Given the description of an element on the screen output the (x, y) to click on. 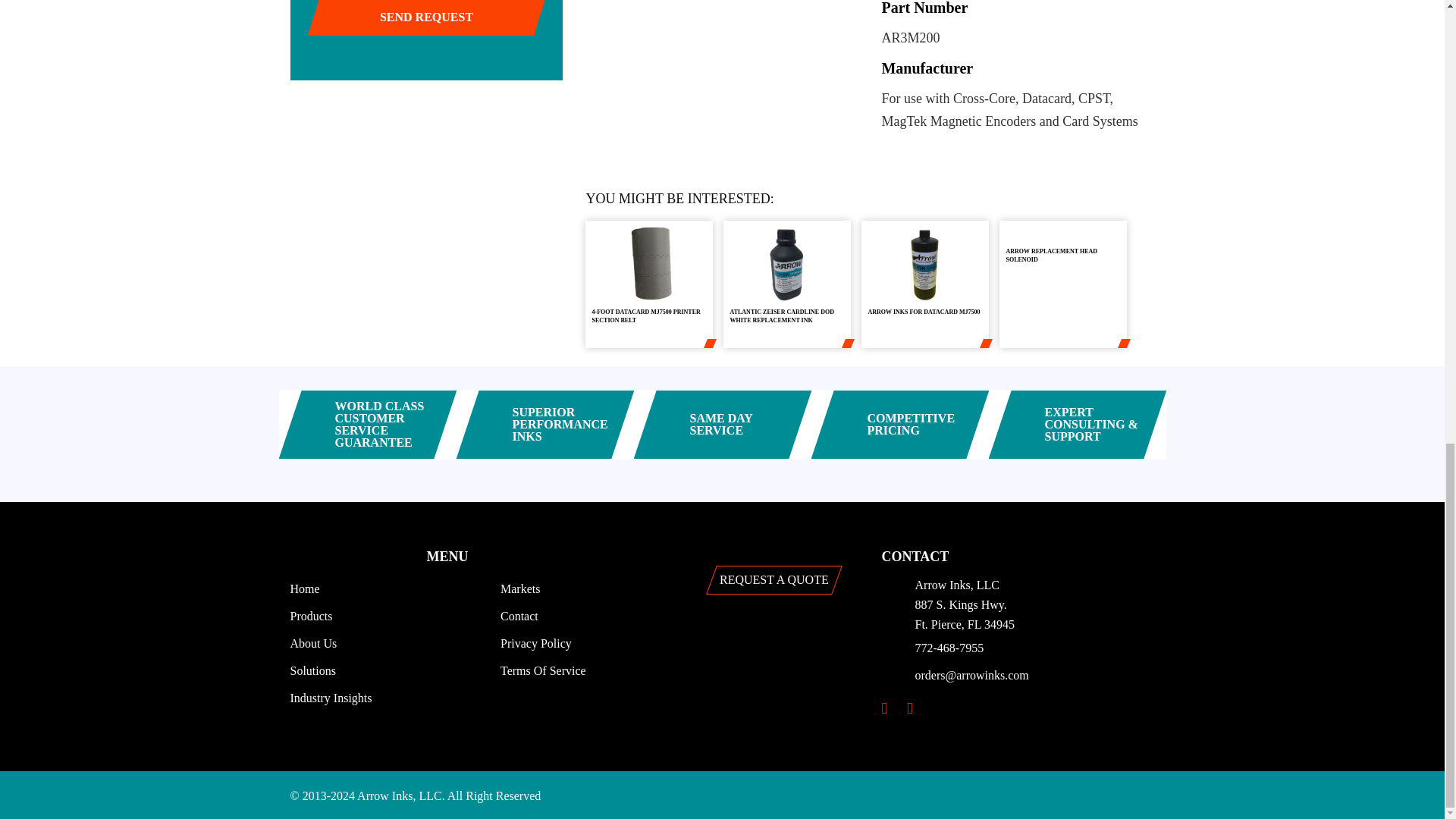
SEND REQUEST (426, 18)
